Given the description of an element on the screen output the (x, y) to click on. 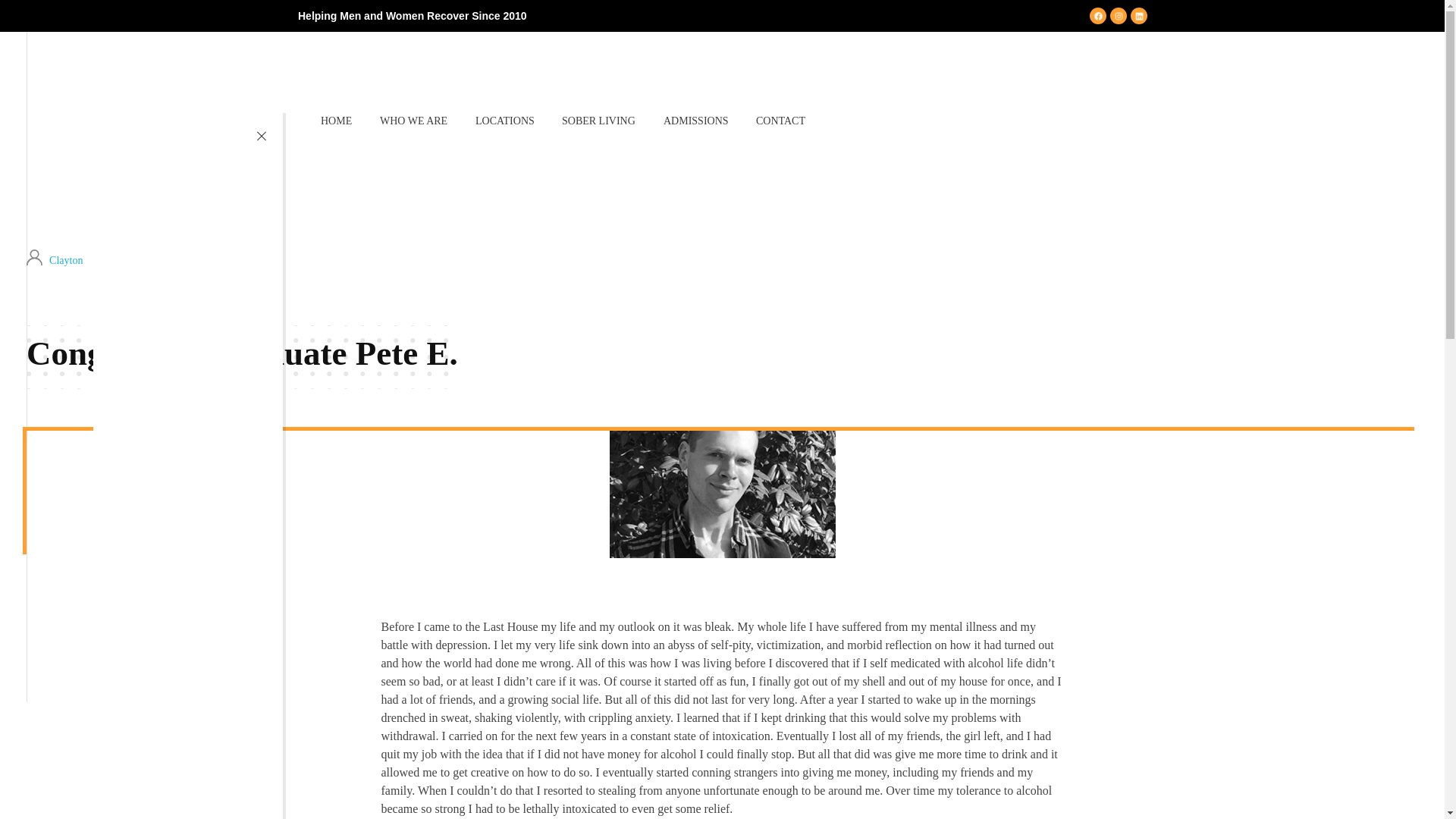
View all posts by Clayton (65, 259)
HOME (343, 120)
SOBER LIVING (598, 120)
WHO WE ARE (413, 120)
LOCATIONS (504, 120)
